Given the description of an element on the screen output the (x, y) to click on. 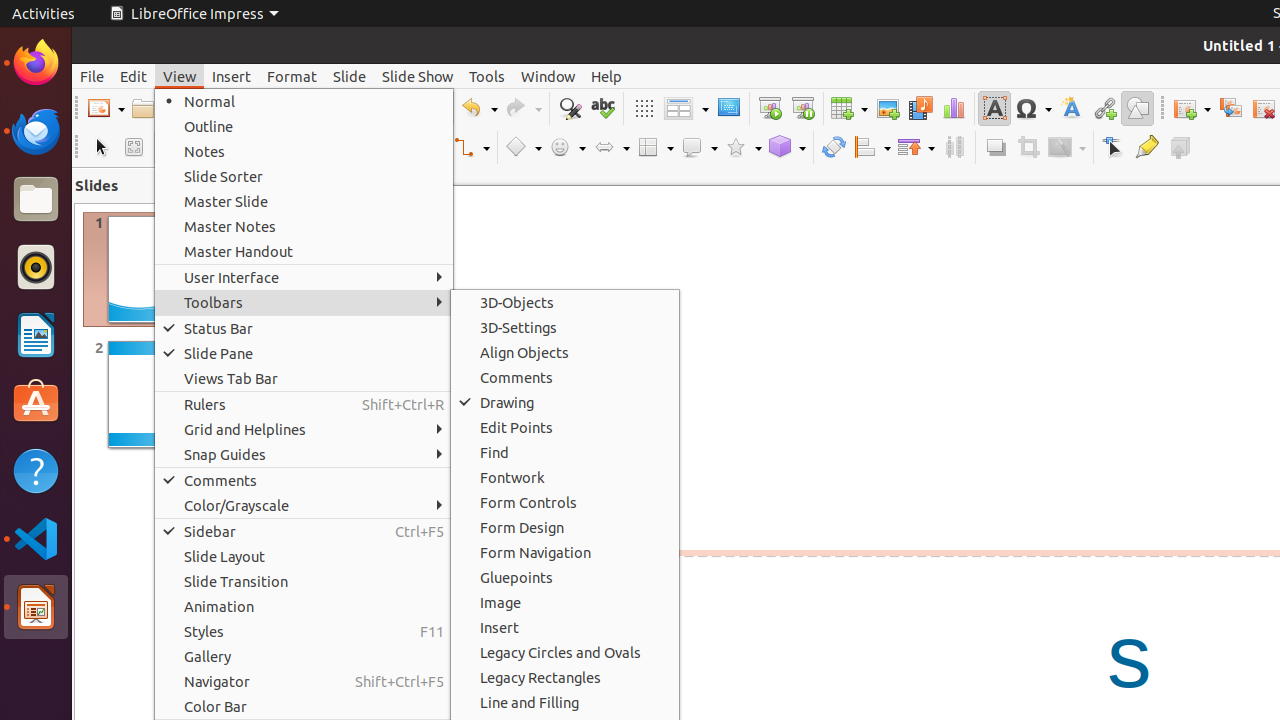
View Element type: menu (179, 76)
Slide Transition Element type: menu-item (304, 581)
Normal Element type: radio-menu-item (304, 101)
Slide Element type: menu (349, 76)
Status Bar Element type: check-menu-item (304, 328)
